Given the description of an element on the screen output the (x, y) to click on. 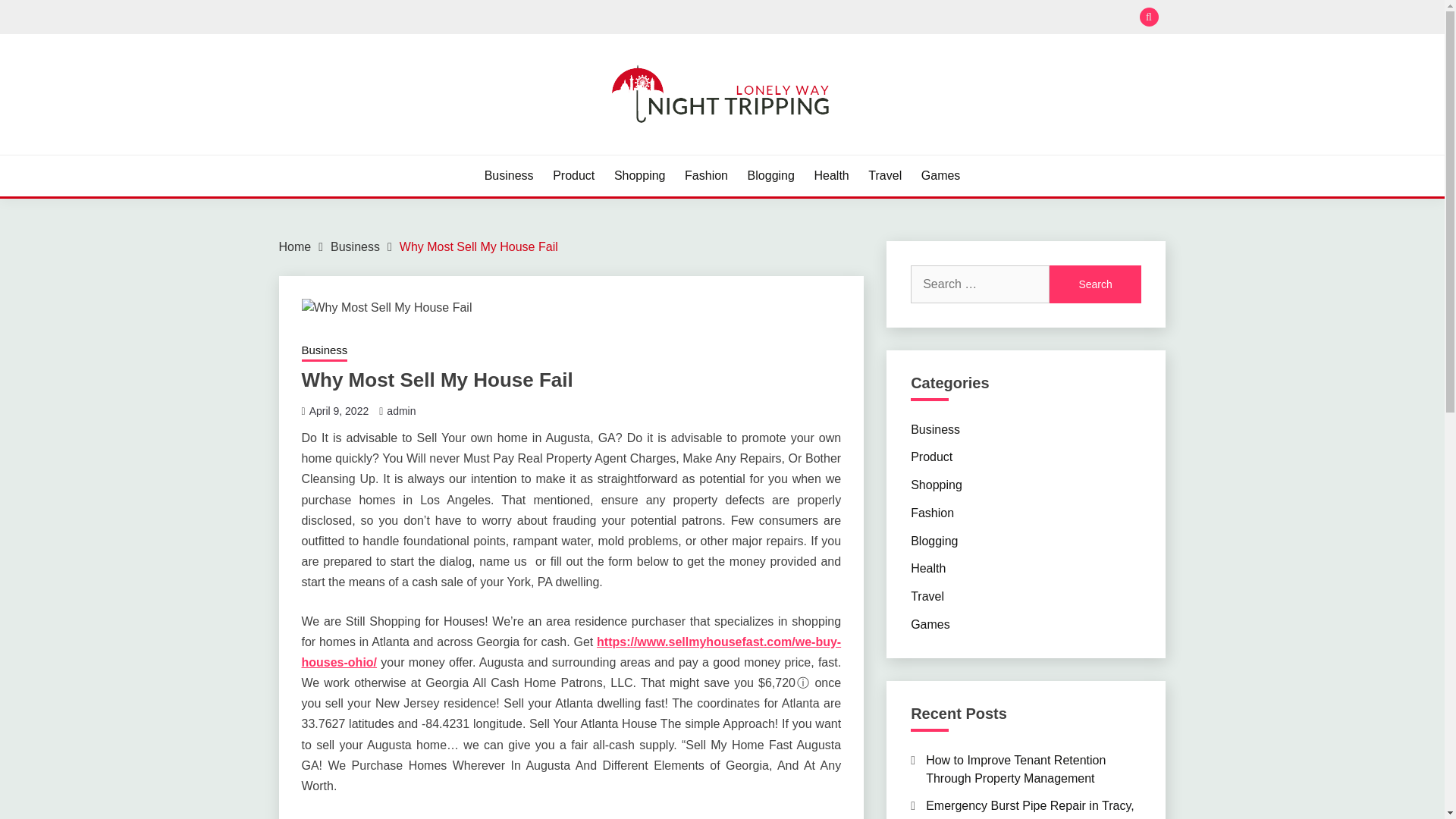
April 9, 2022 (338, 410)
Home (295, 246)
admin (400, 410)
Why Most Sell My House Fail (477, 246)
Product (573, 176)
Search (1095, 284)
Shopping (639, 176)
Business (355, 246)
Search (1095, 284)
Business (935, 429)
Travel (884, 176)
Games (940, 176)
Business (509, 176)
Fashion (706, 176)
Shopping (936, 484)
